Given the description of an element on the screen output the (x, y) to click on. 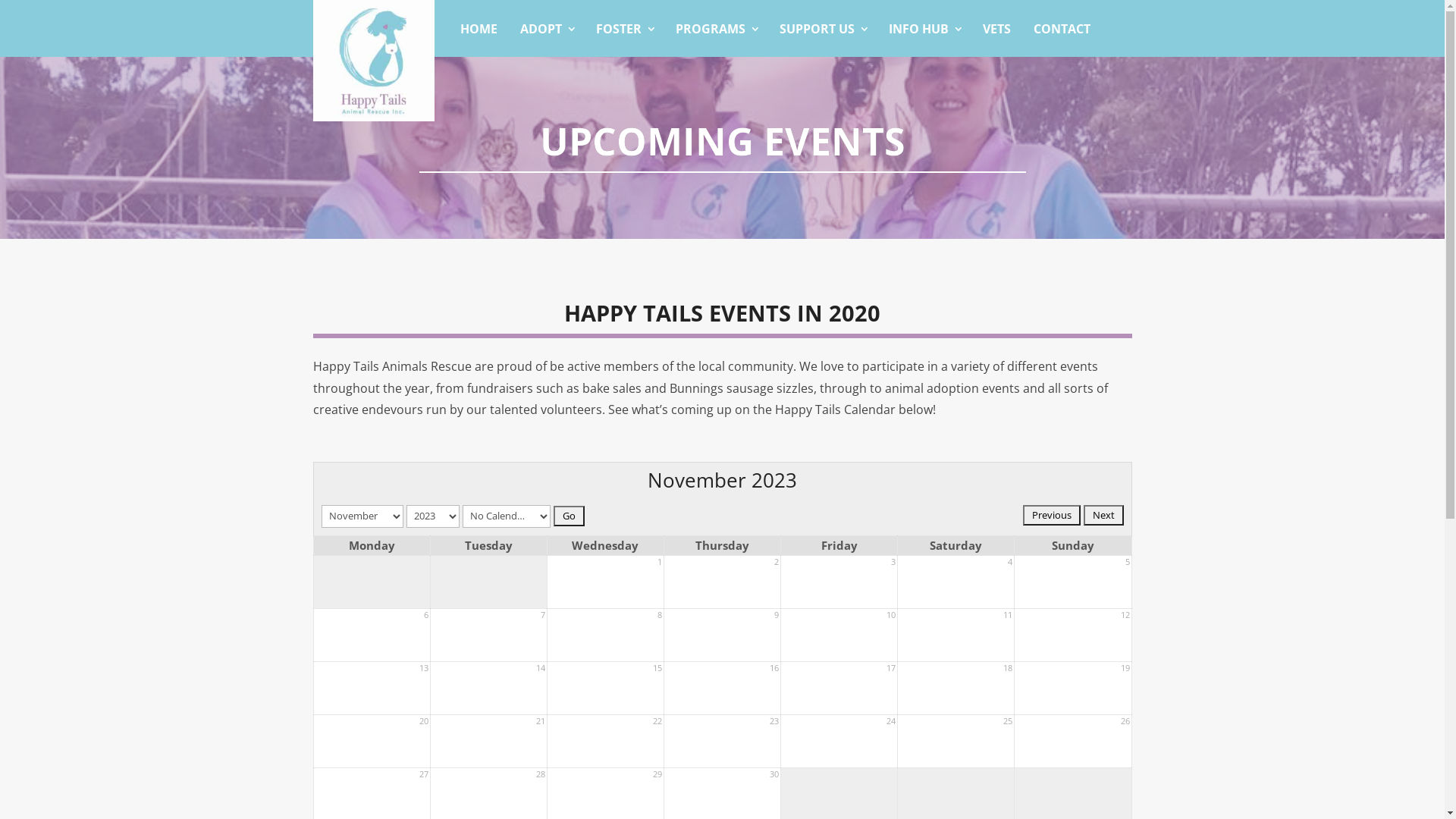
PROGRAMS Element type: text (716, 28)
CONTACT Element type: text (1061, 28)
Go Element type: text (568, 515)
HOME Element type: text (478, 28)
SUPPORT US Element type: text (821, 28)
INFO HUB Element type: text (923, 28)
Previous Element type: text (1050, 515)
Next Element type: text (1102, 515)
ADOPT Element type: text (545, 28)
FOSTER Element type: text (623, 28)
VETS Element type: text (995, 28)
